Given the description of an element on the screen output the (x, y) to click on. 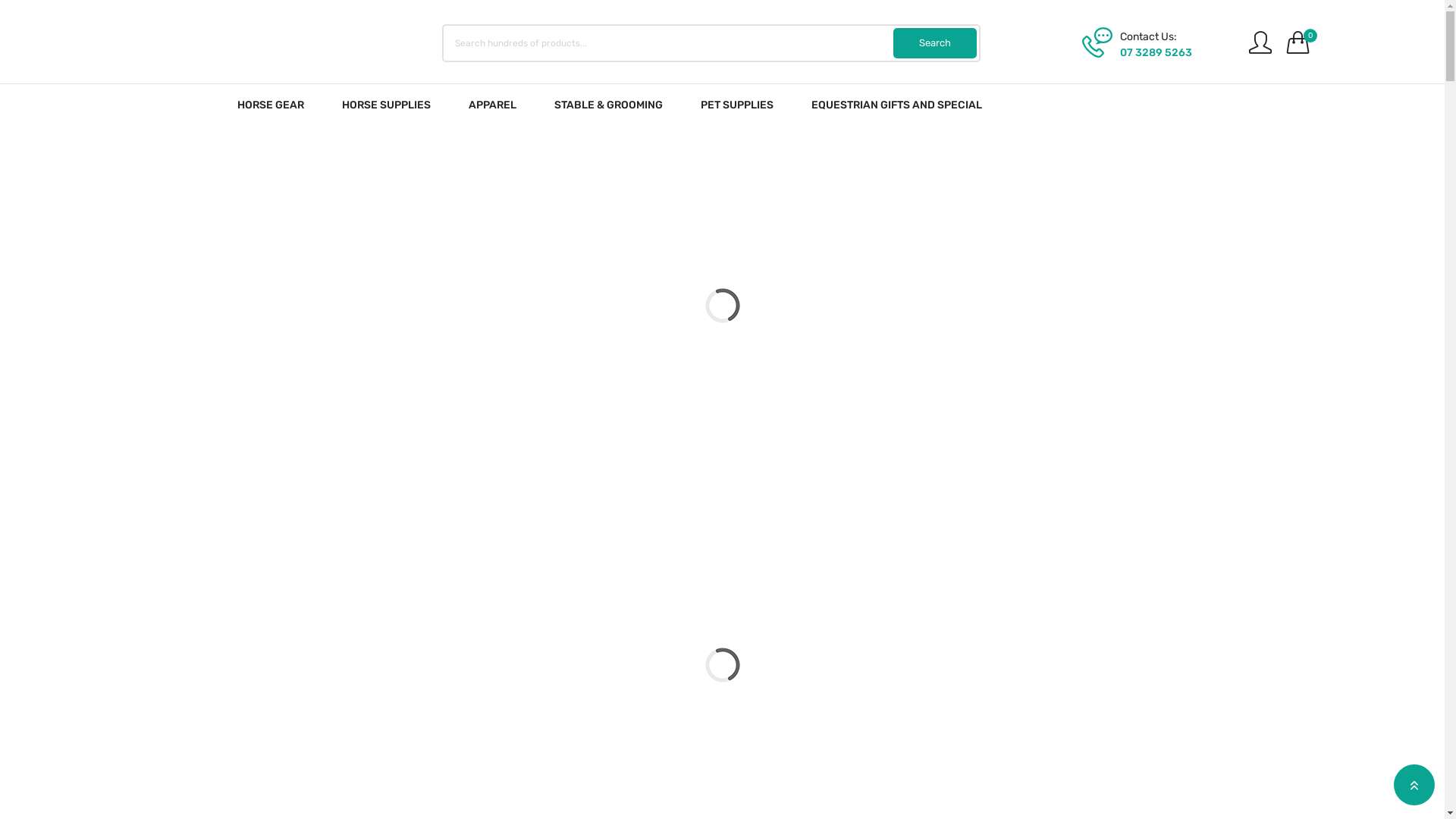
Search Element type: text (934, 43)
HORSE SUPPLIES Element type: text (385, 104)
HORSE GEAR Element type: text (269, 104)
0 Element type: text (1297, 42)
STABLE & GROOMING Element type: text (607, 104)
PET SUPPLIES Element type: text (736, 104)
EQUESTRIAN GIFTS AND SPECIAL Element type: text (896, 104)
APPAREL Element type: text (492, 104)
